Given the description of an element on the screen output the (x, y) to click on. 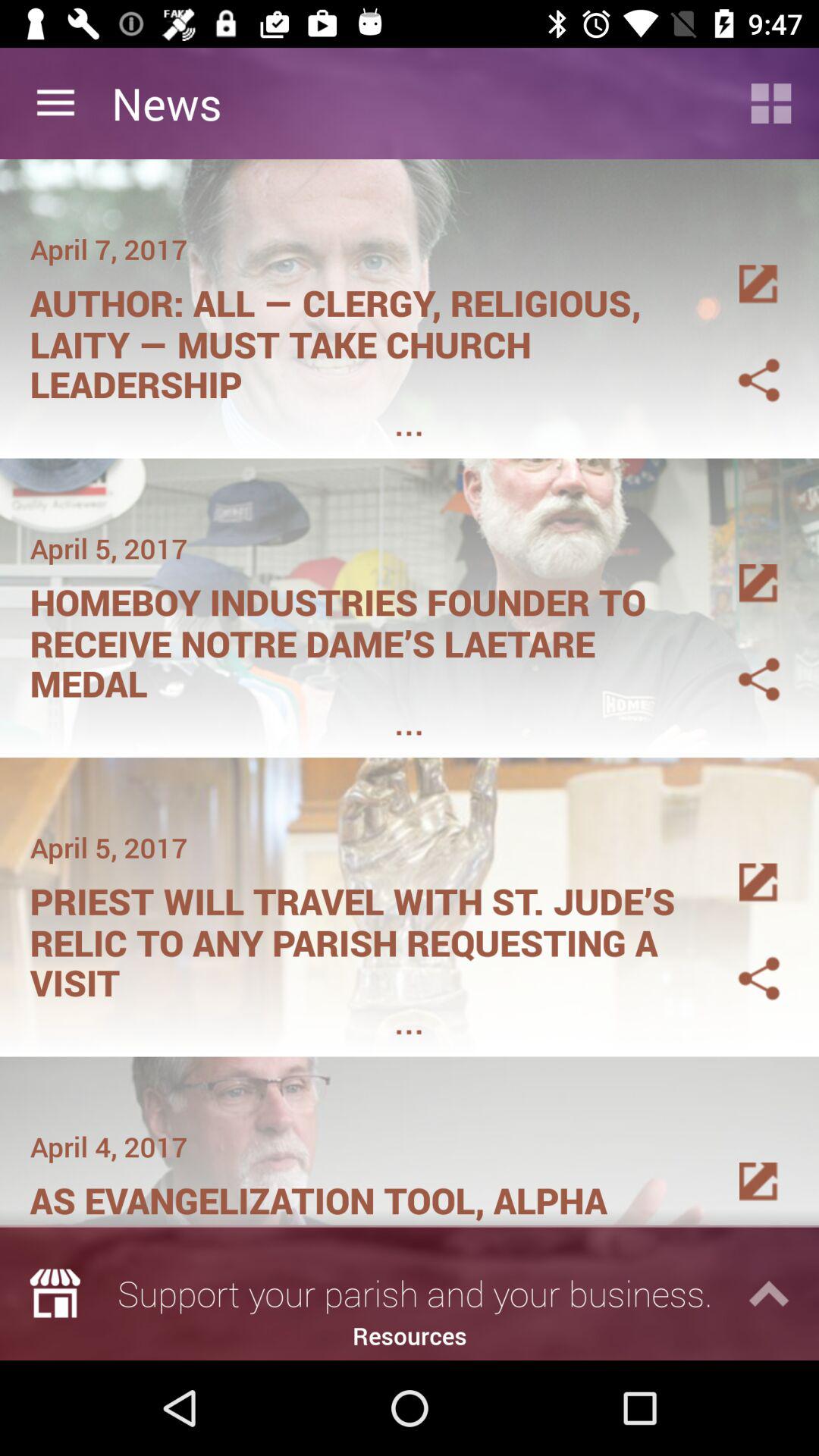
press the icon to the right of news item (771, 103)
